Given the description of an element on the screen output the (x, y) to click on. 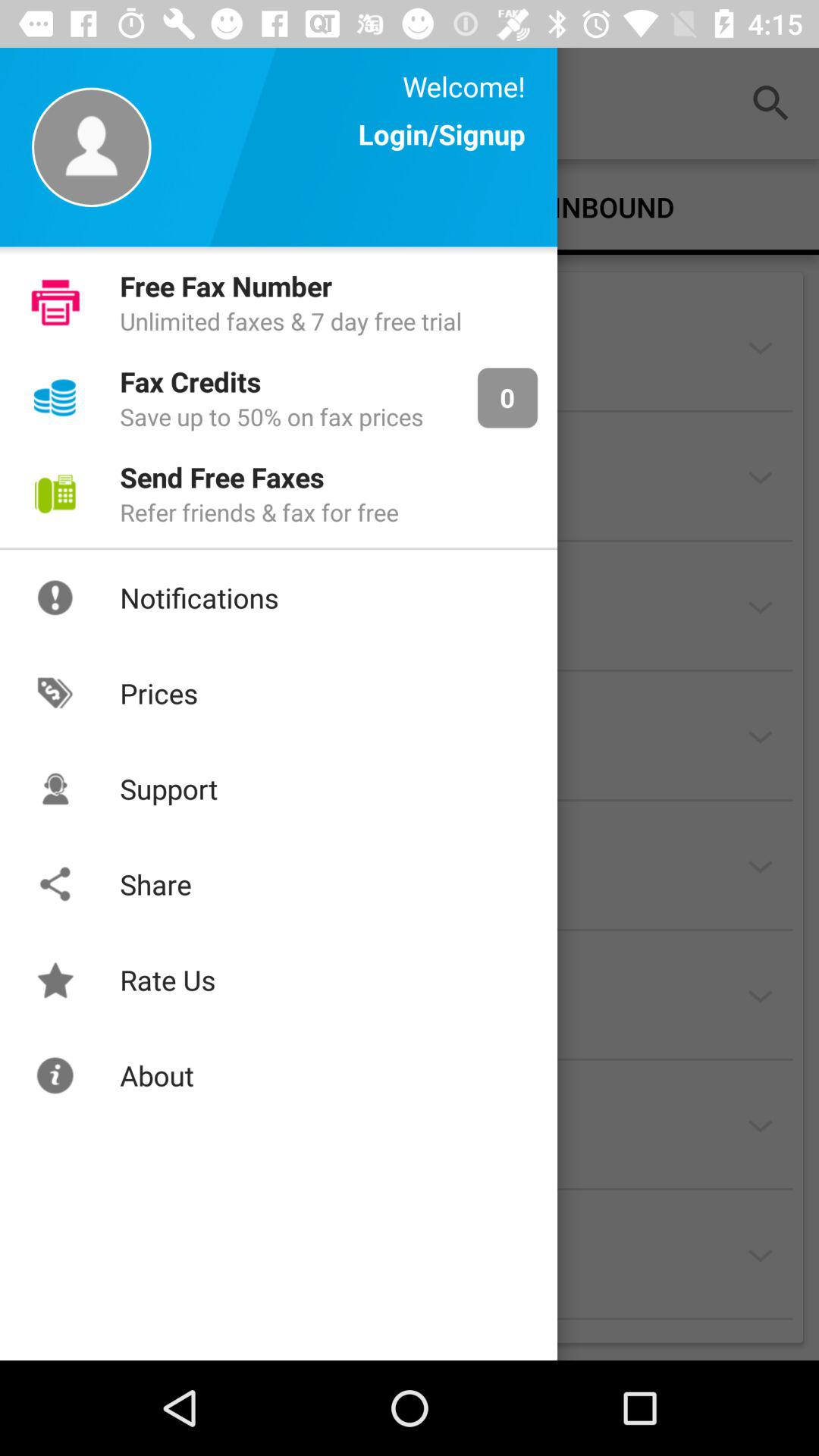
click on icon left to free fax number (55, 302)
click on loginsignup (441, 148)
click on icon left to fax credits (55, 397)
